Given the description of an element on the screen output the (x, y) to click on. 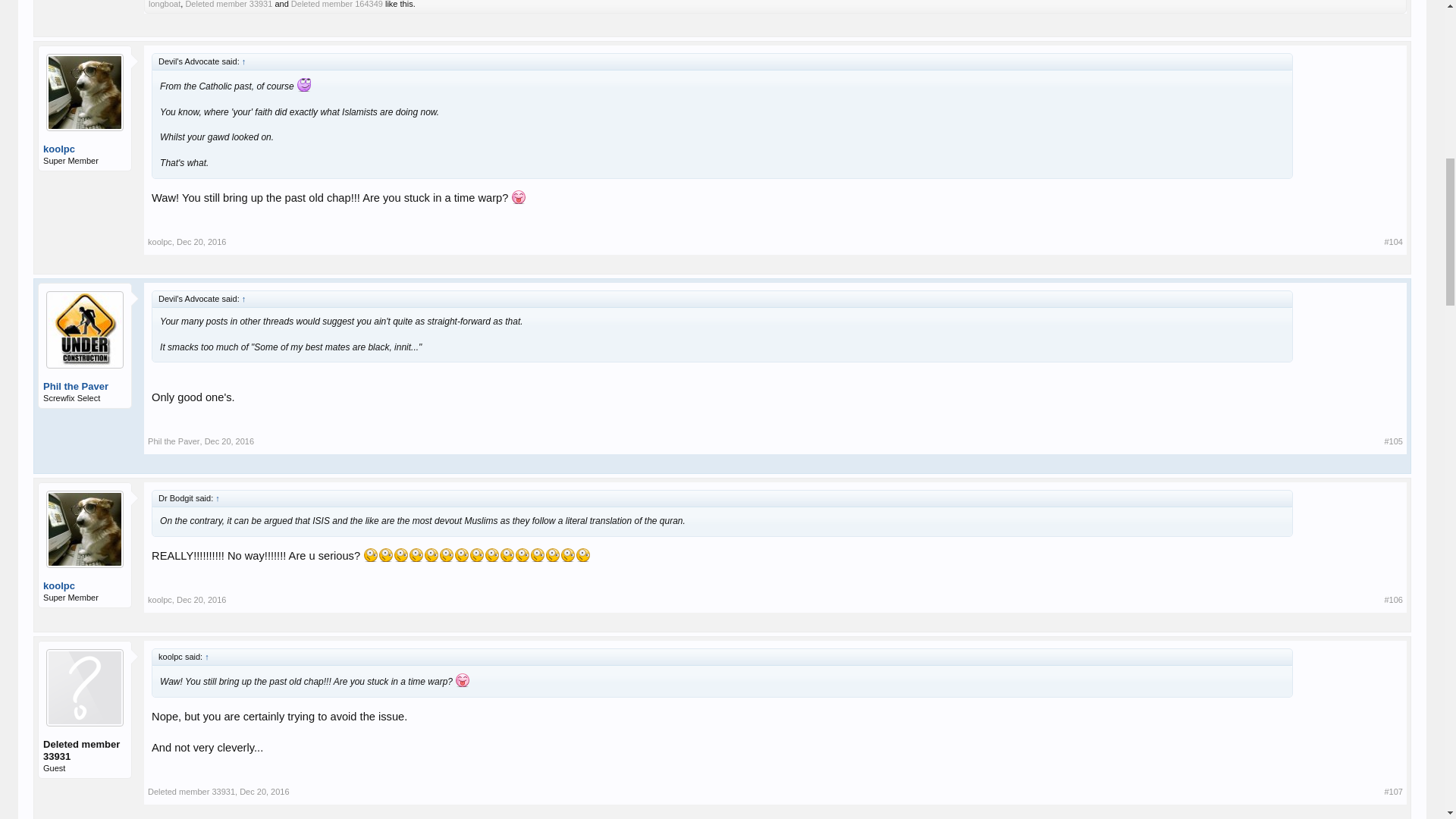
Stick Out Tongue    :p (518, 196)
Permalink (200, 241)
Permalink (1393, 241)
Roll Eyes    :rolleyes: (304, 84)
Permalink (229, 440)
